Given the description of an element on the screen output the (x, y) to click on. 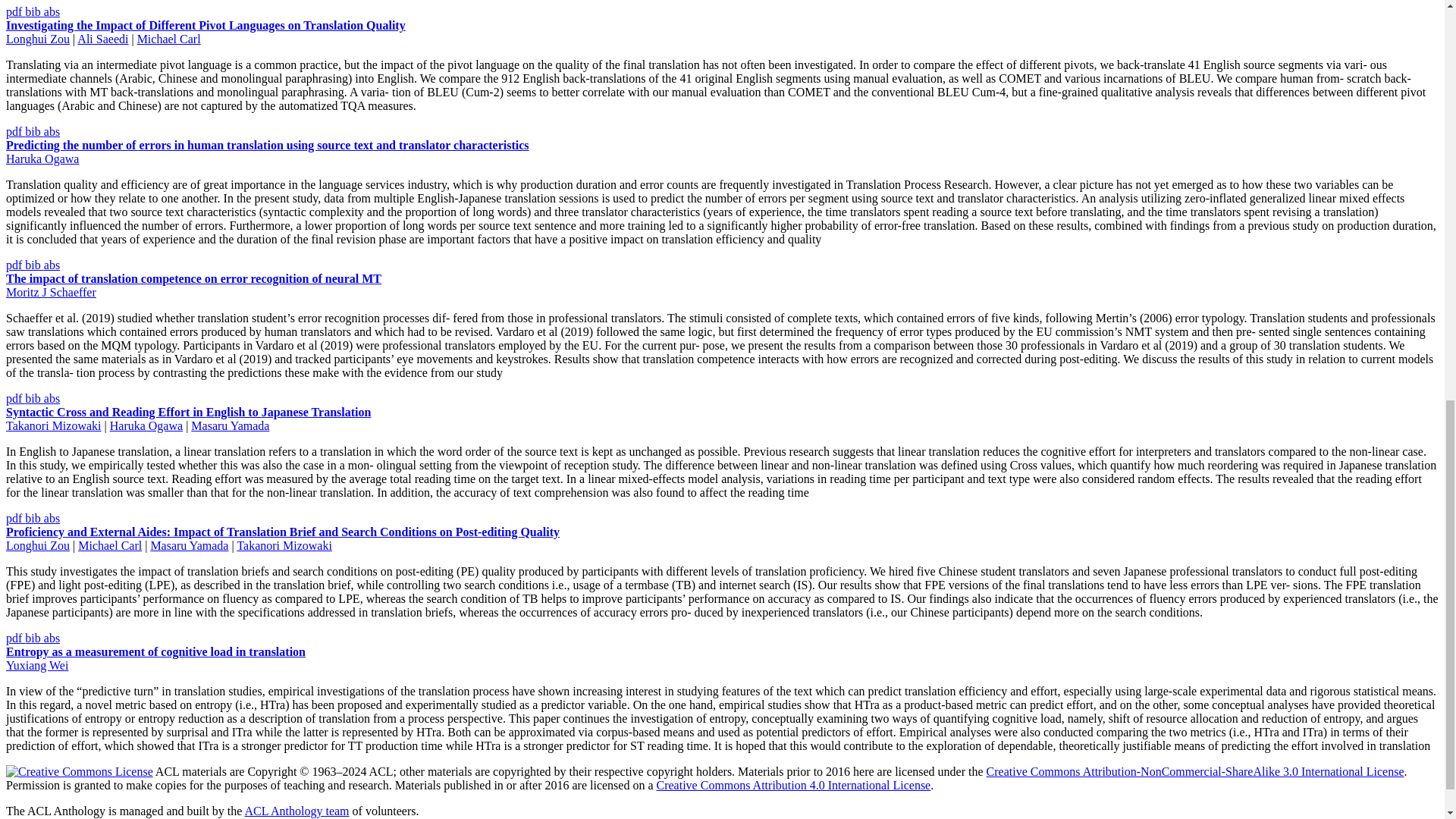
Open PDF (14, 131)
Export to BibTeX (33, 131)
Show Abstract (51, 11)
Show Abstract (51, 264)
Export to BibTeX (33, 11)
bib (33, 11)
pdf (14, 11)
Export to BibTeX (33, 264)
Open PDF (14, 264)
Open PDF (14, 11)
Show Abstract (51, 131)
